Given the description of an element on the screen output the (x, y) to click on. 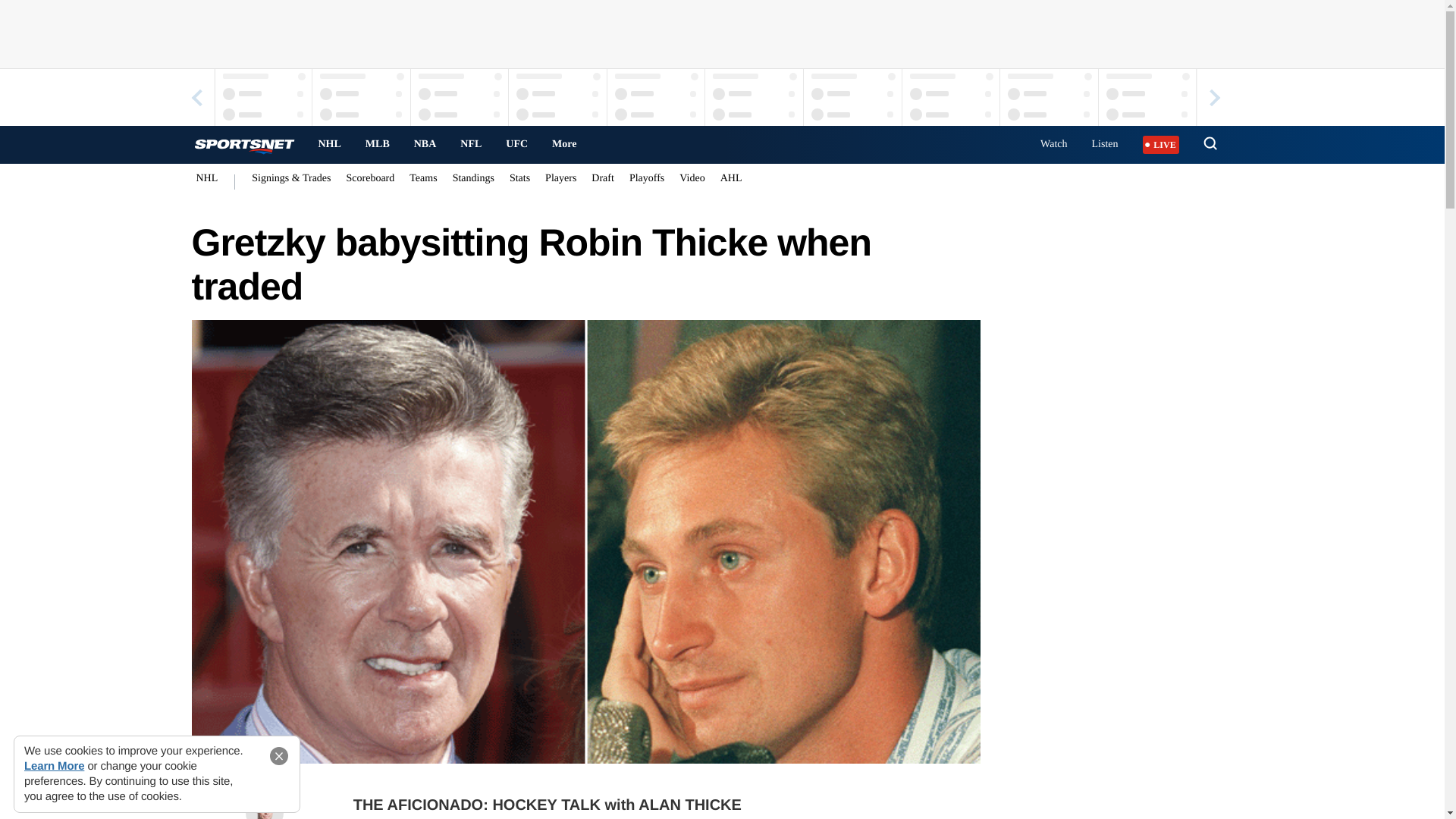
Learn More (54, 766)
NHL (328, 144)
